Given the description of an element on the screen output the (x, y) to click on. 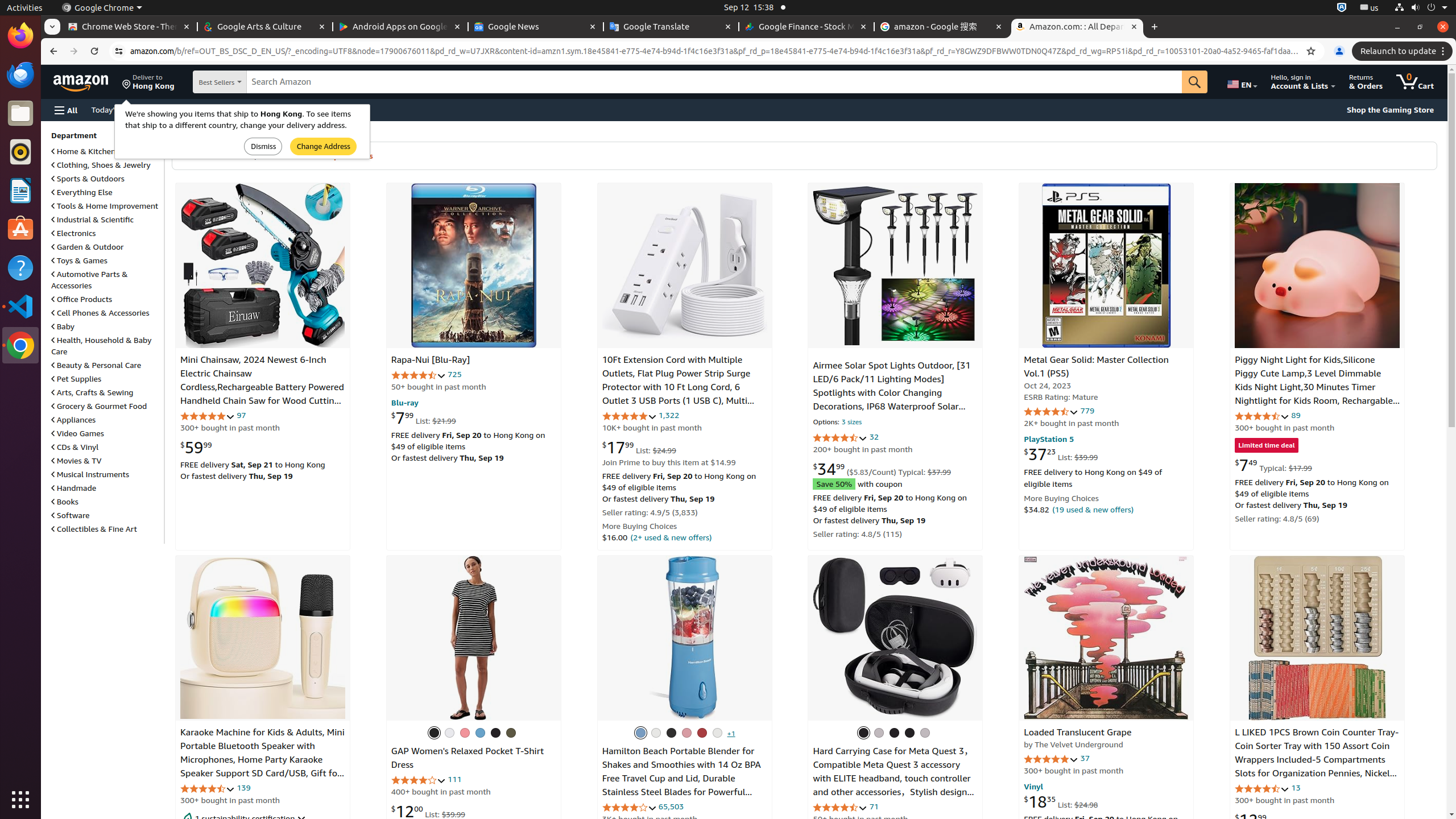
2 Jars - White Element type: push-button (655, 732)
white+black Element type: push-button (924, 732)
Relaunch to update Element type: push-button (1403, 50)
Piggy Night Light for Kids,Silicone Piggy Cute Lamp,3 Level Dimmable Kids Night Light,30 Minutes Timer Nightlight for Kids Room, Rechargable Bedside Touch Baby Night Light, Soft Kids Lamp Element type: link (1313, 394)
True Black Element type: push-button (495, 732)
